Given the description of an element on the screen output the (x, y) to click on. 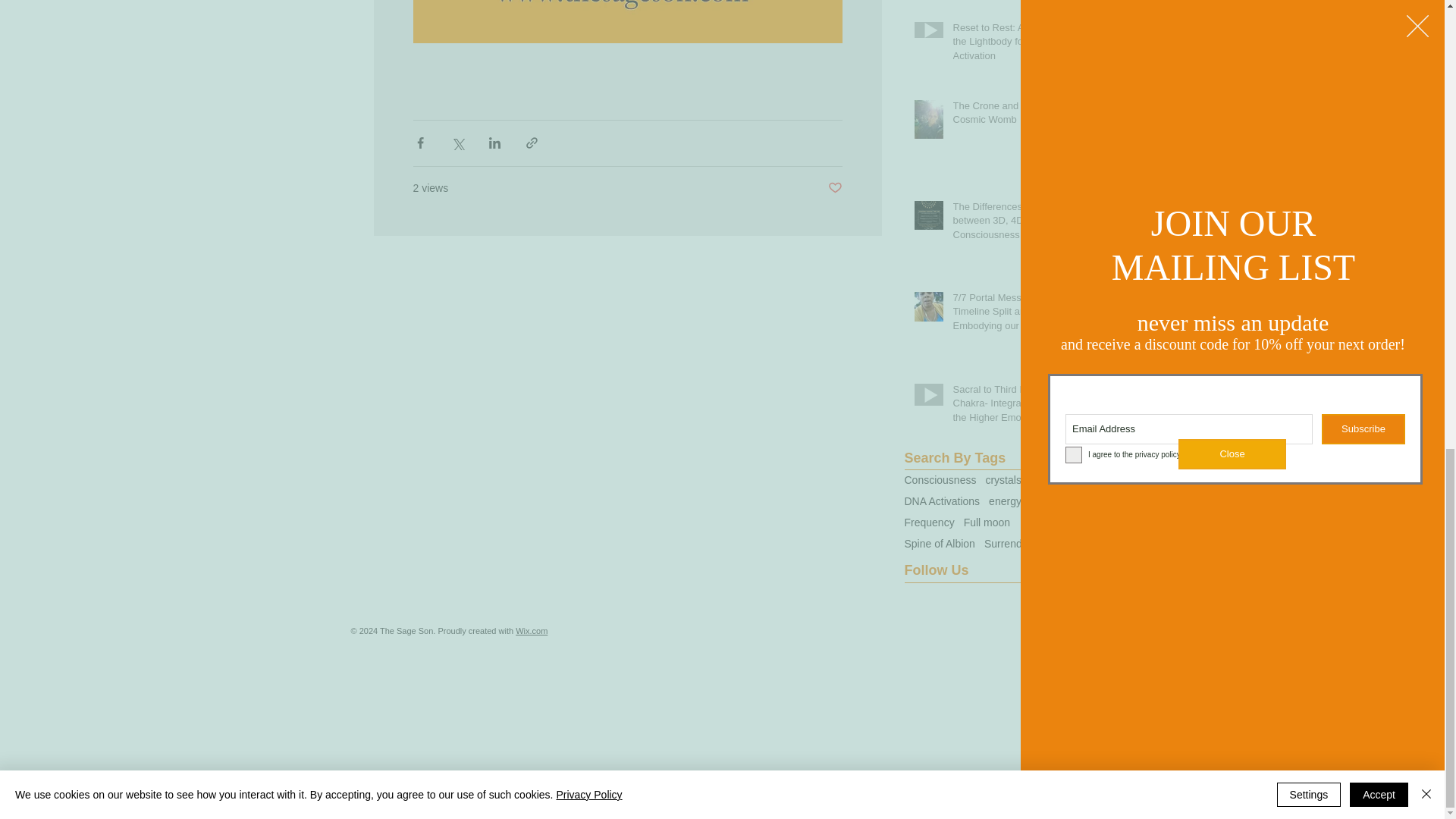
Post not marked as liked (835, 188)
